Given the description of an element on the screen output the (x, y) to click on. 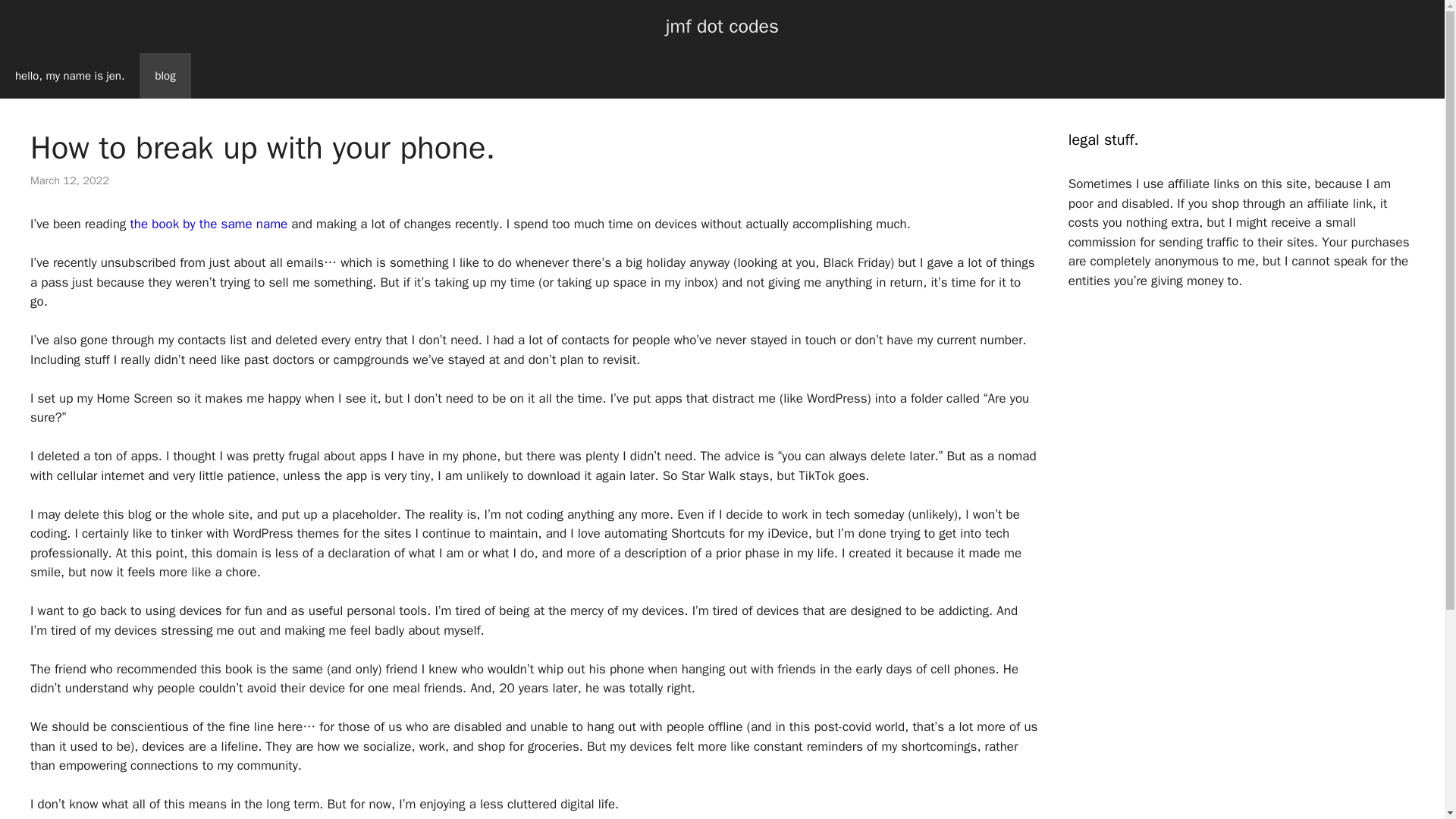
hello, my name is jen. (69, 75)
blog (164, 75)
the book by the same name (207, 223)
jmf dot codes (721, 25)
